Given the description of an element on the screen output the (x, y) to click on. 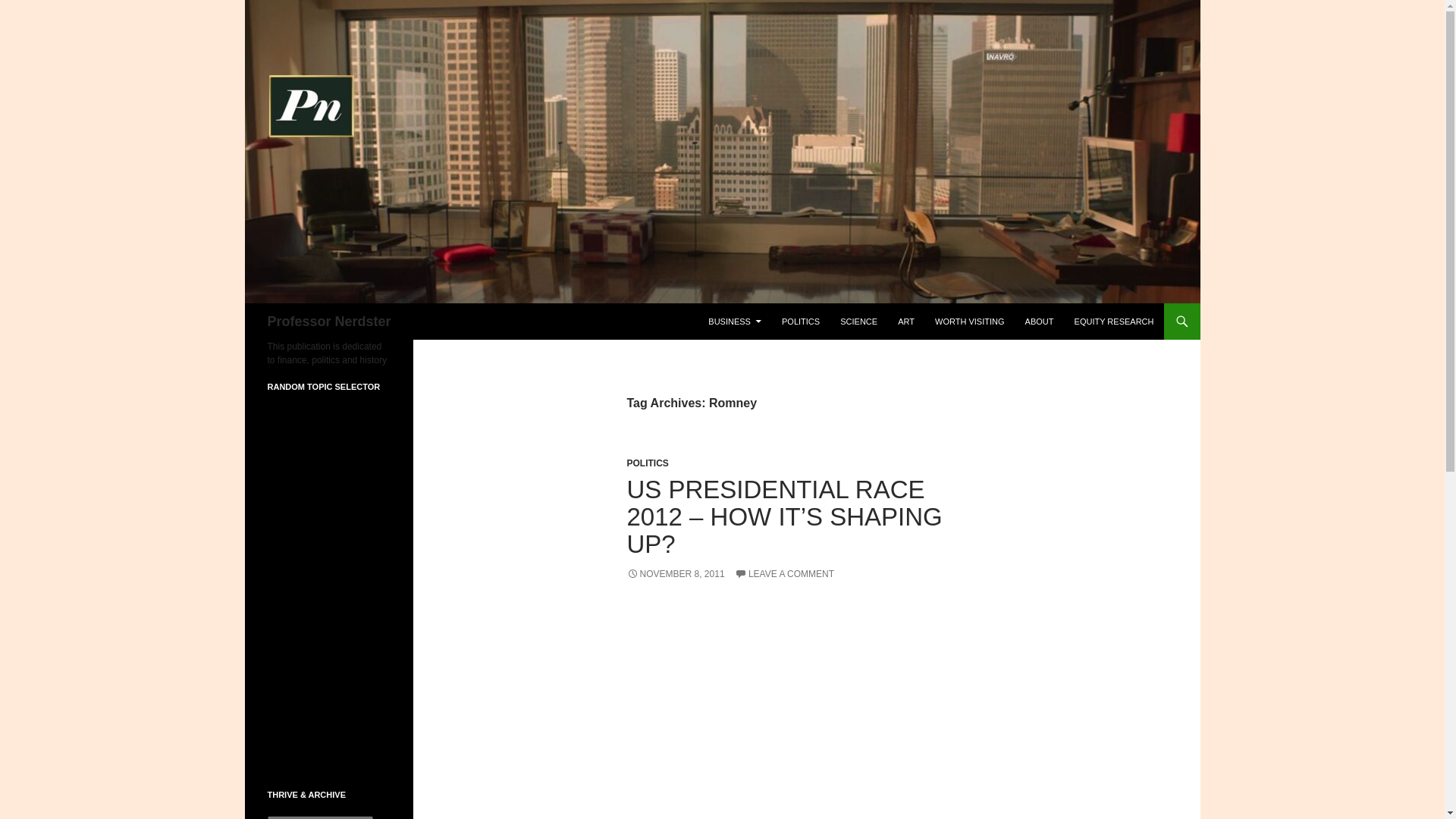
WORTH VISITING (969, 321)
LEAVE A COMMENT (784, 573)
Kidnapping (285, 442)
TV Scrambler (333, 429)
mansgement (288, 485)
Prenuptial Agreements (309, 422)
EQUITY RESEARCH (1114, 321)
ART (905, 321)
Ronald reagan (291, 415)
